Given the description of an element on the screen output the (x, y) to click on. 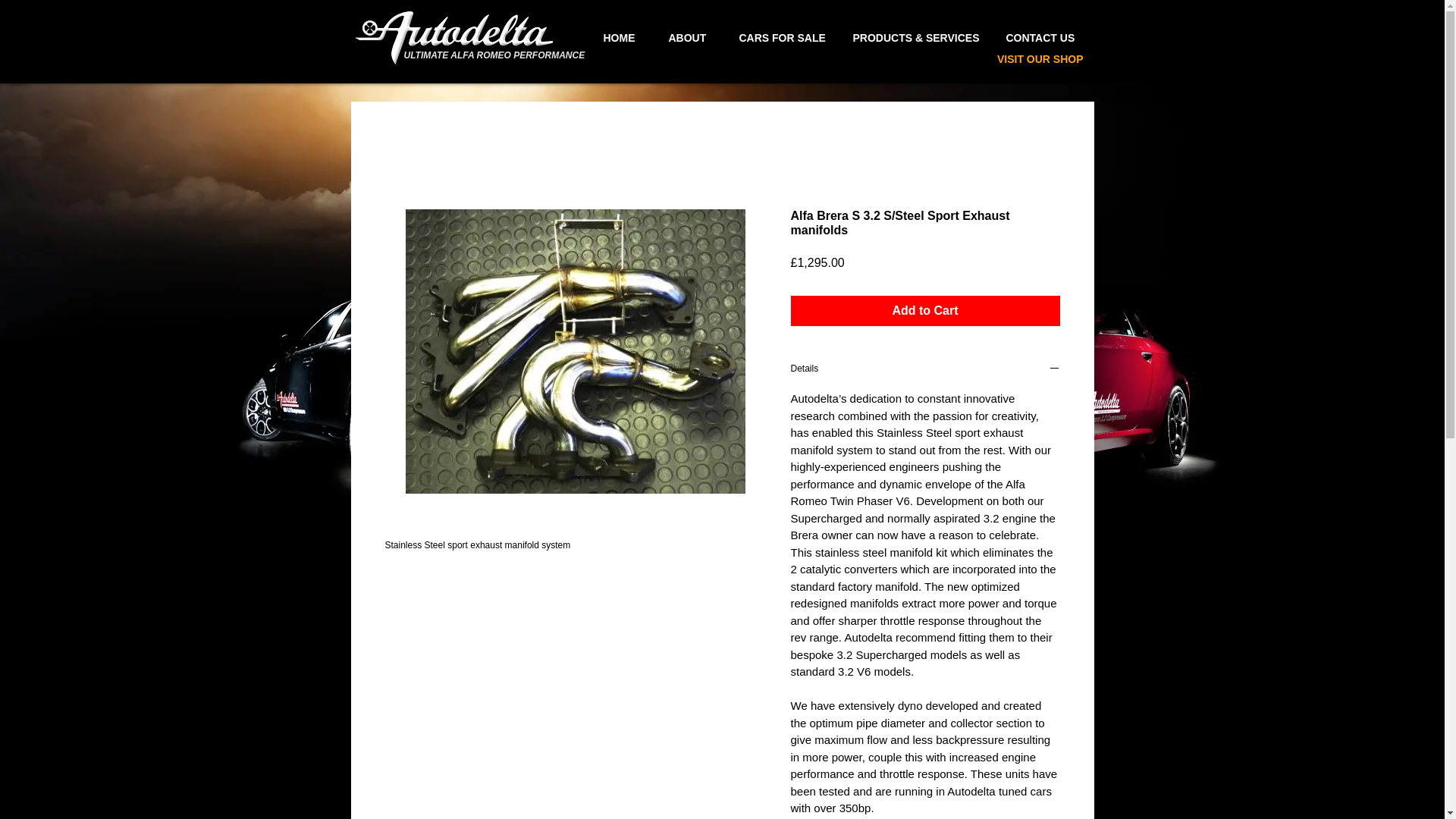
ULTIMATE ALFA ROMEO PERFORMANCE (494, 54)
HOME (617, 37)
Facebook Like (1054, 90)
VISIT OUR SHOP (1040, 59)
Details (924, 369)
Add to Cart (924, 310)
CARS FOR SALE (778, 37)
ABOUT (687, 37)
CONTACT US (1038, 37)
